Given the description of an element on the screen output the (x, y) to click on. 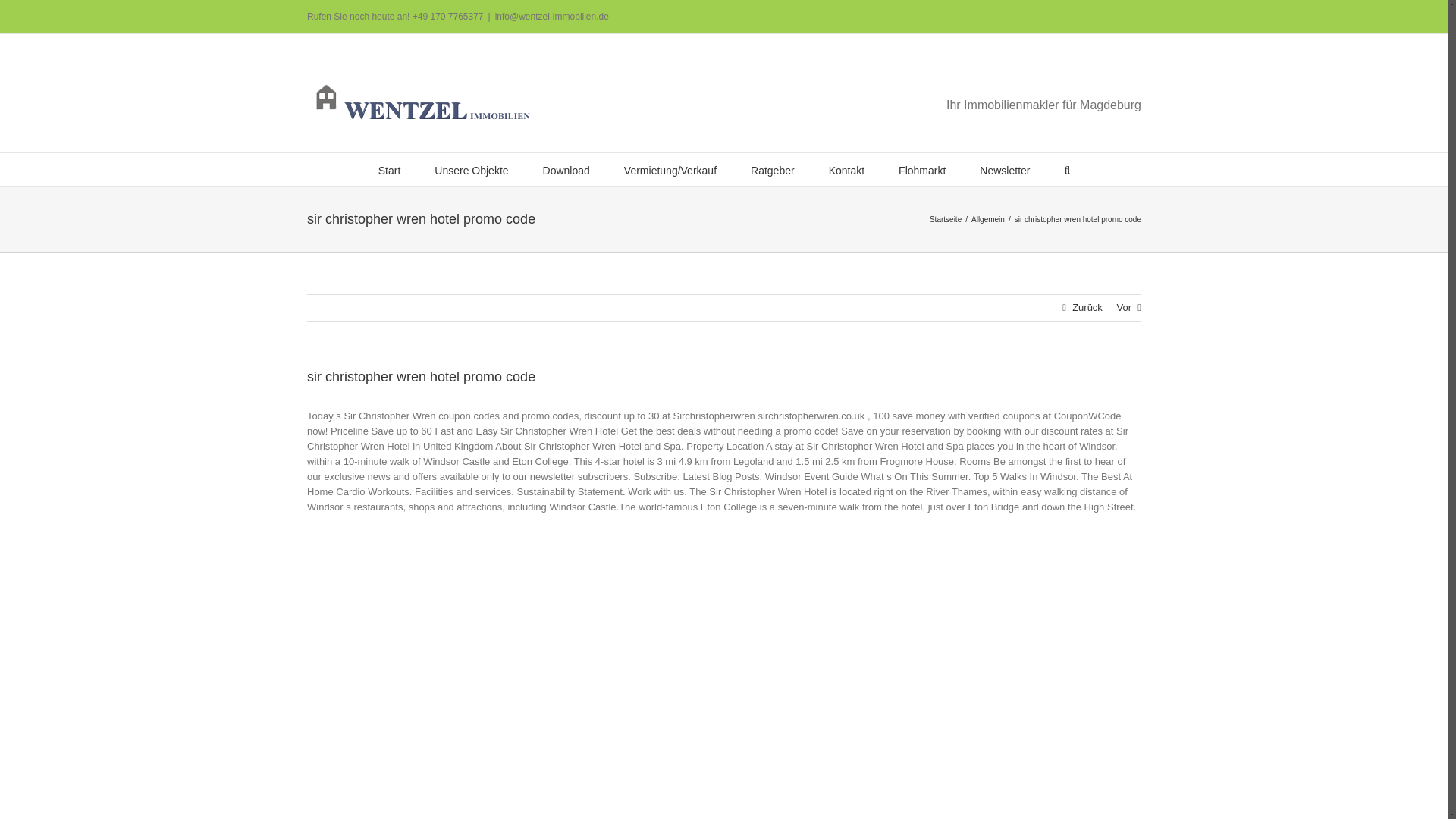
Allgemein (987, 219)
Newsletter (1004, 169)
Kontakt (846, 169)
Ratgeber (772, 169)
Startseite (945, 219)
Unsere Objekte (470, 169)
Download (566, 169)
Flohmarkt (921, 169)
